Given the description of an element on the screen output the (x, y) to click on. 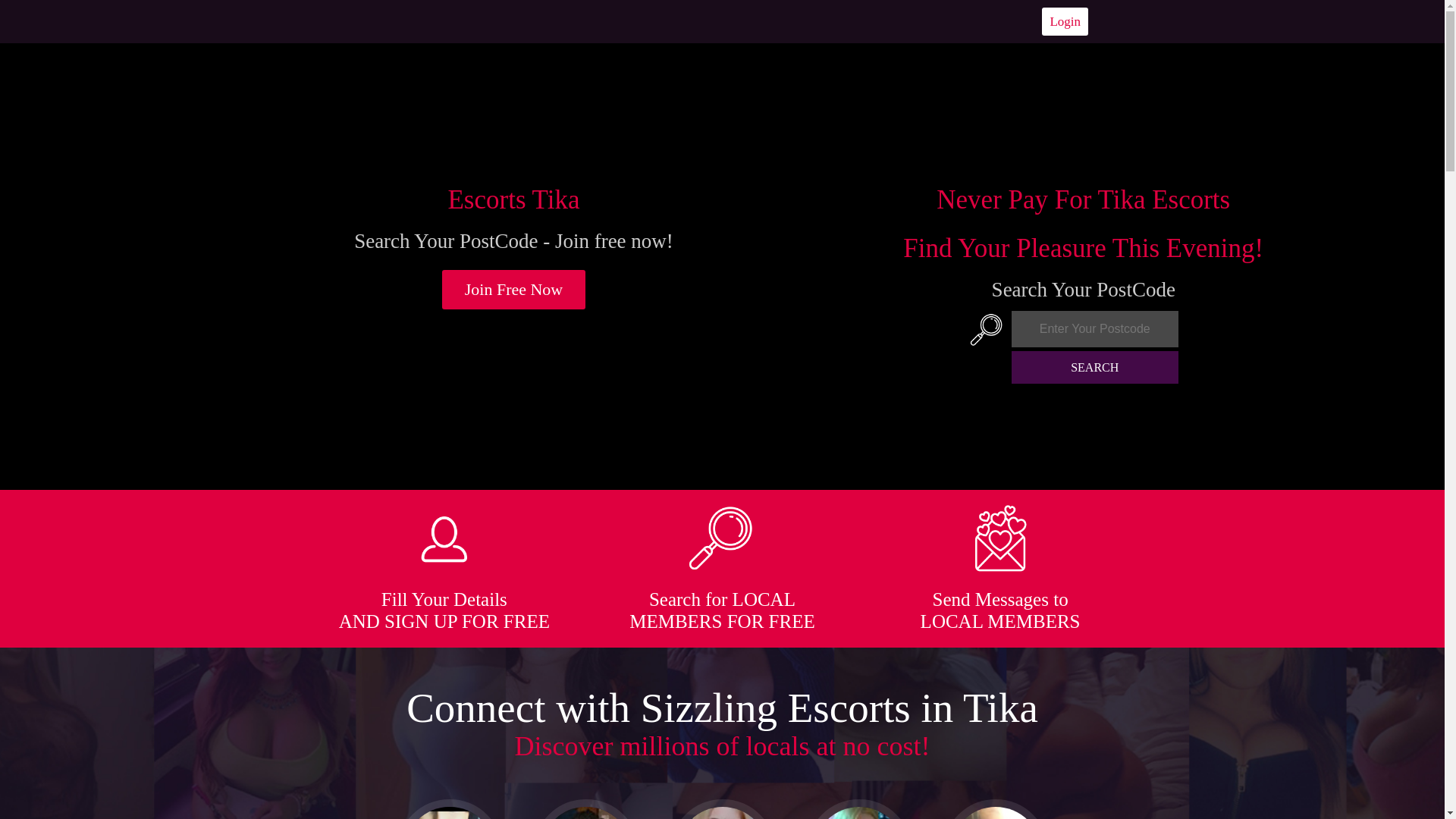
Join Free Now (514, 289)
Login (1064, 21)
SEARCH (1094, 367)
Join (514, 289)
Login (1064, 21)
